Given the description of an element on the screen output the (x, y) to click on. 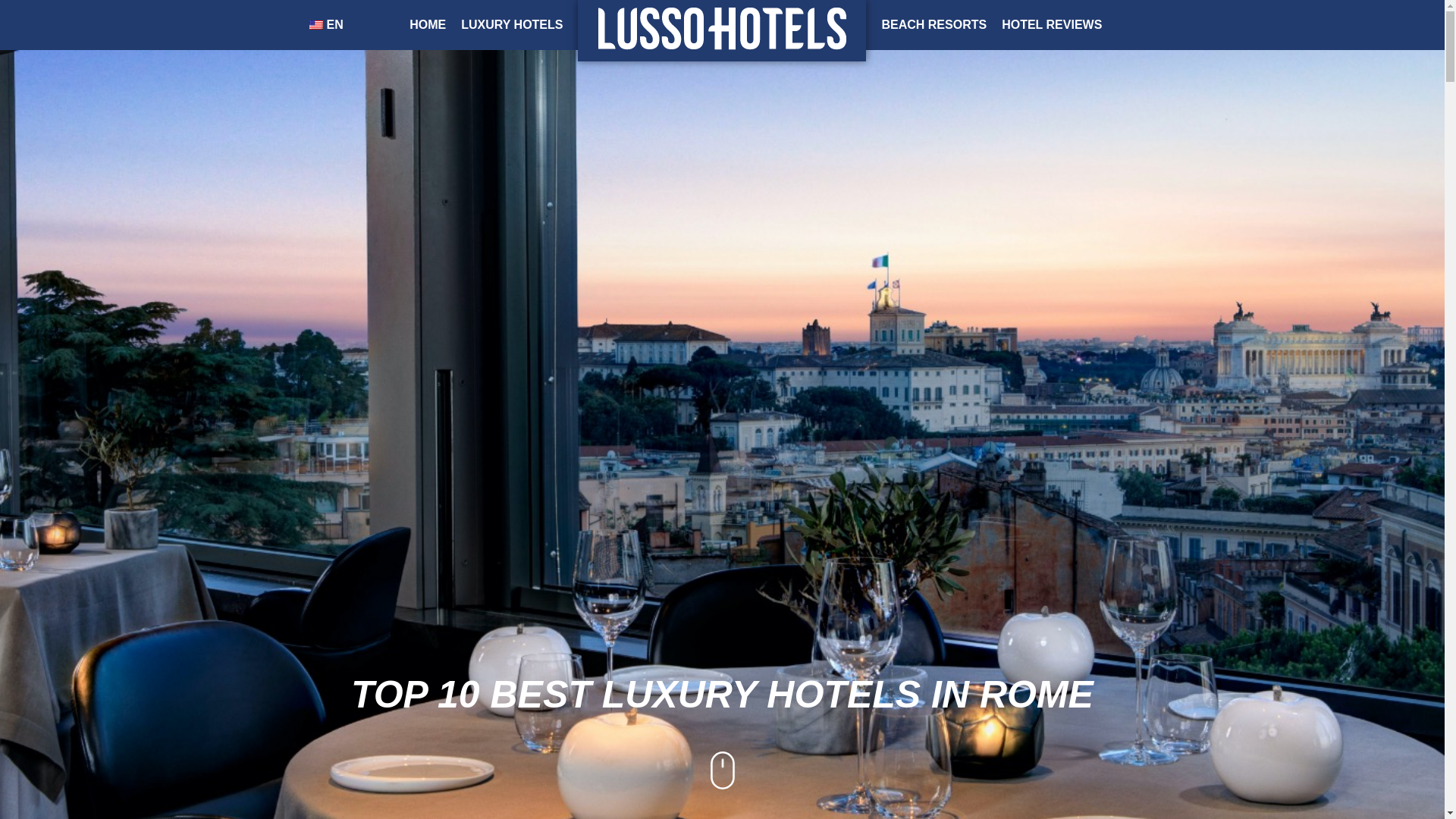
LUXURY HOTELS (511, 24)
EN (323, 24)
English (315, 24)
HOTEL REVIEWS (1051, 24)
BEACH RESORTS (933, 24)
HOME (426, 24)
